Given the description of an element on the screen output the (x, y) to click on. 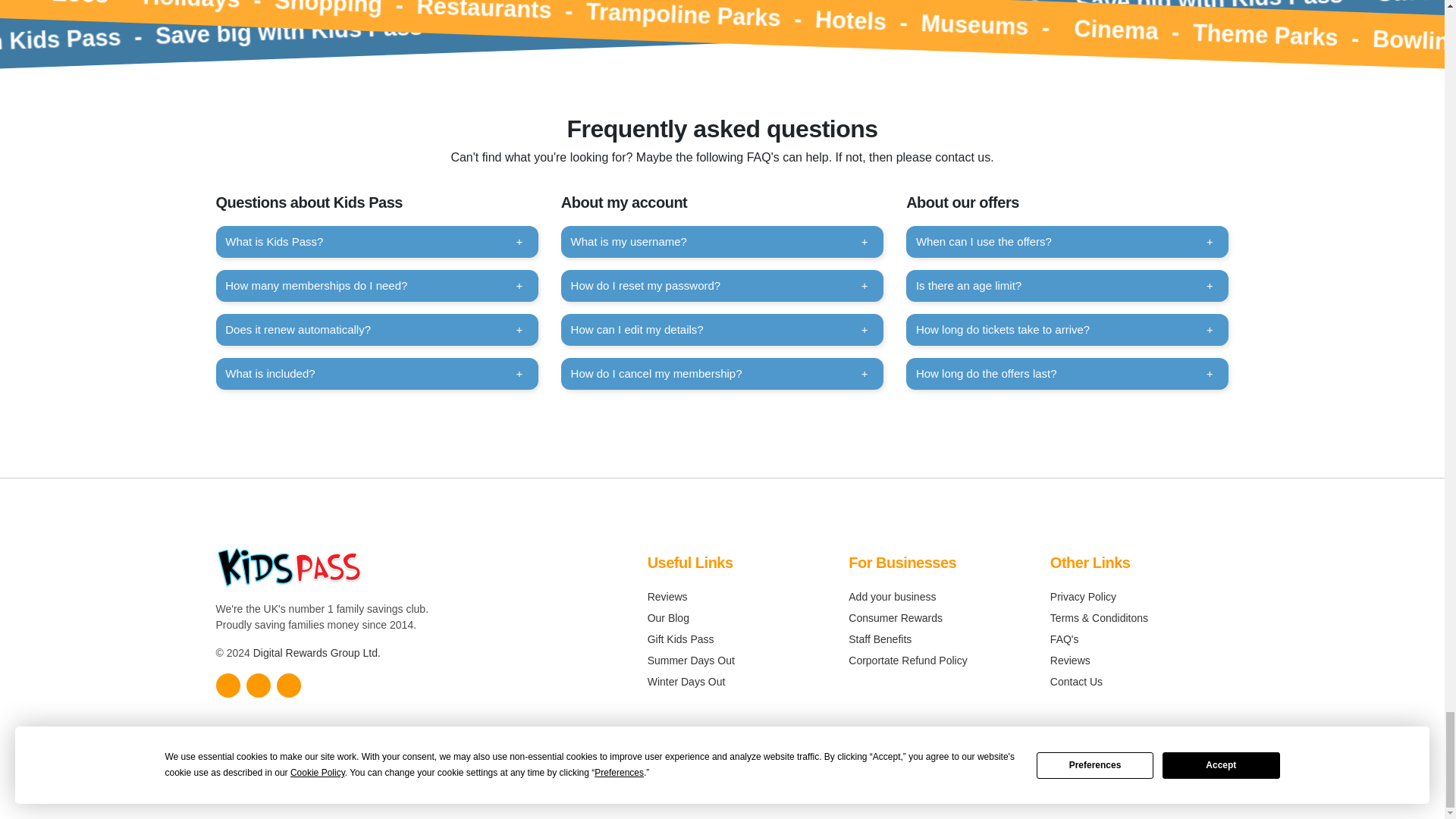
Digital Rewards Group Ltd. (316, 653)
